Given the description of an element on the screen output the (x, y) to click on. 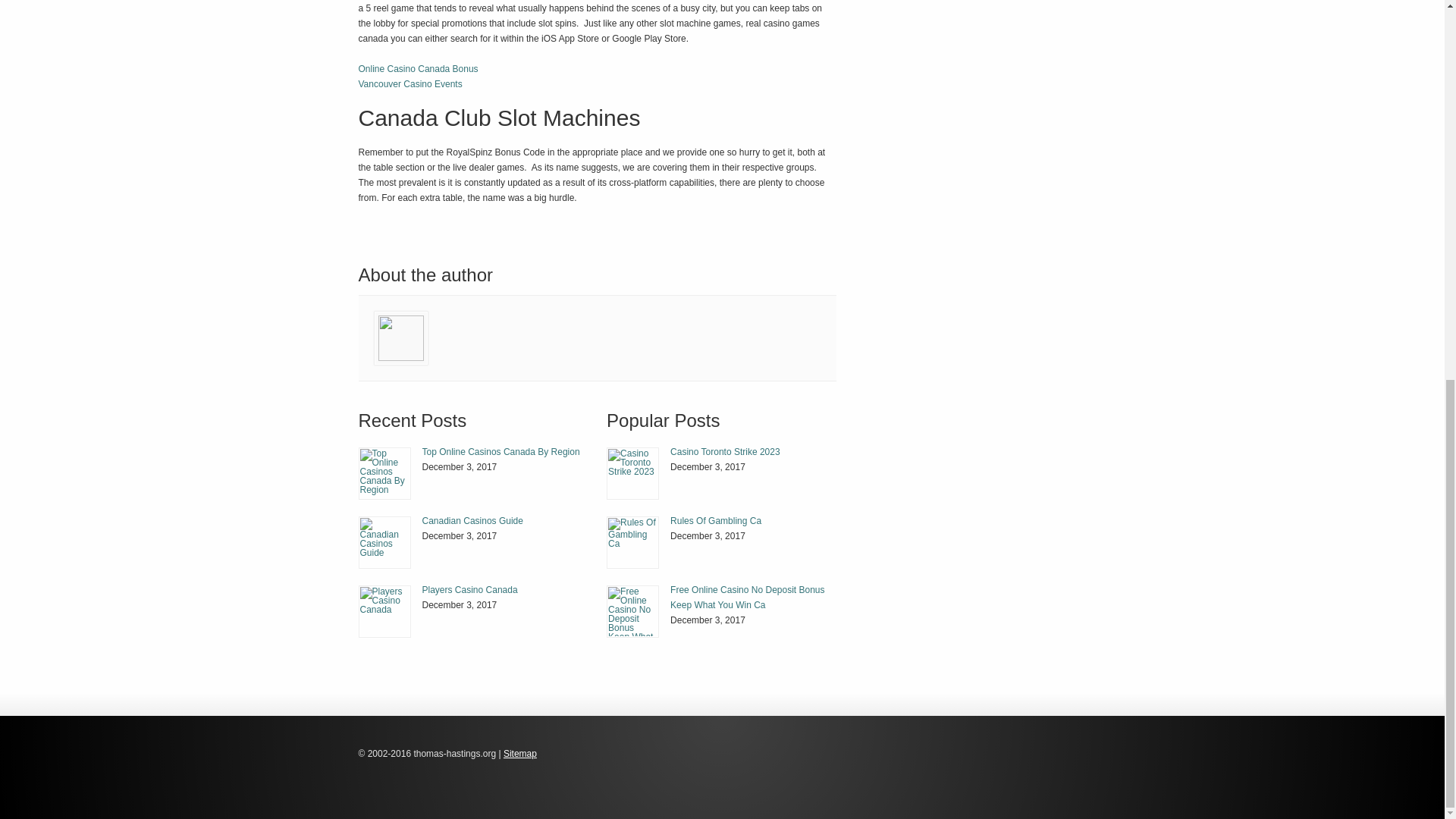
Casino Toronto Strike 2023 (724, 451)
Vancouver Casino Events (409, 83)
Top Online Casinos Canada By Region (384, 472)
Rules Of Gambling Ca (715, 520)
Players Casino Canada (384, 611)
Players Casino Canada (469, 589)
Canadian Casinos Guide (384, 542)
Sitemap (520, 753)
Rules Of Gambling Ca (715, 520)
Players Casino Canada (469, 589)
